Given the description of an element on the screen output the (x, y) to click on. 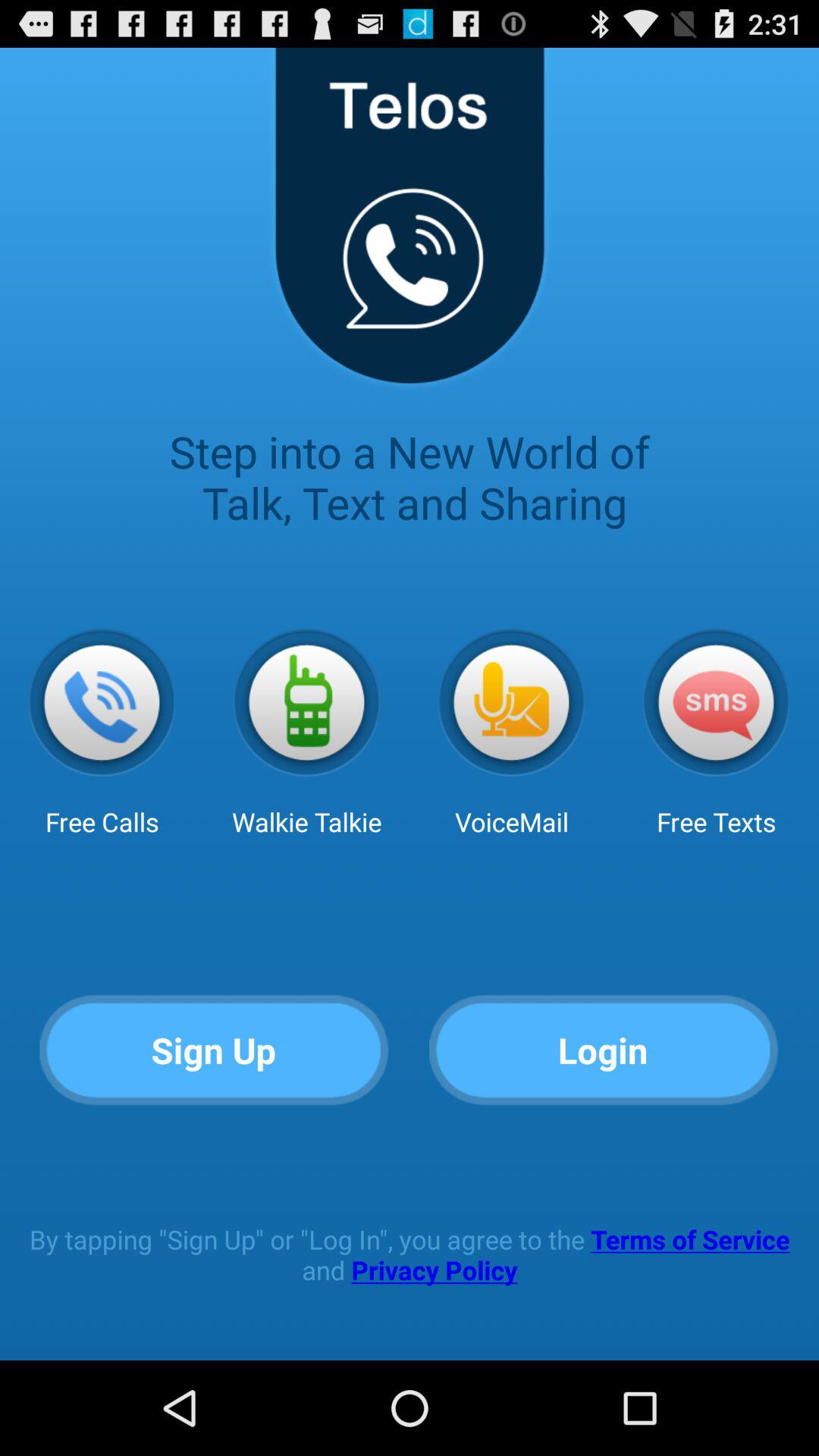
turn off login icon (604, 1050)
